Given the description of an element on the screen output the (x, y) to click on. 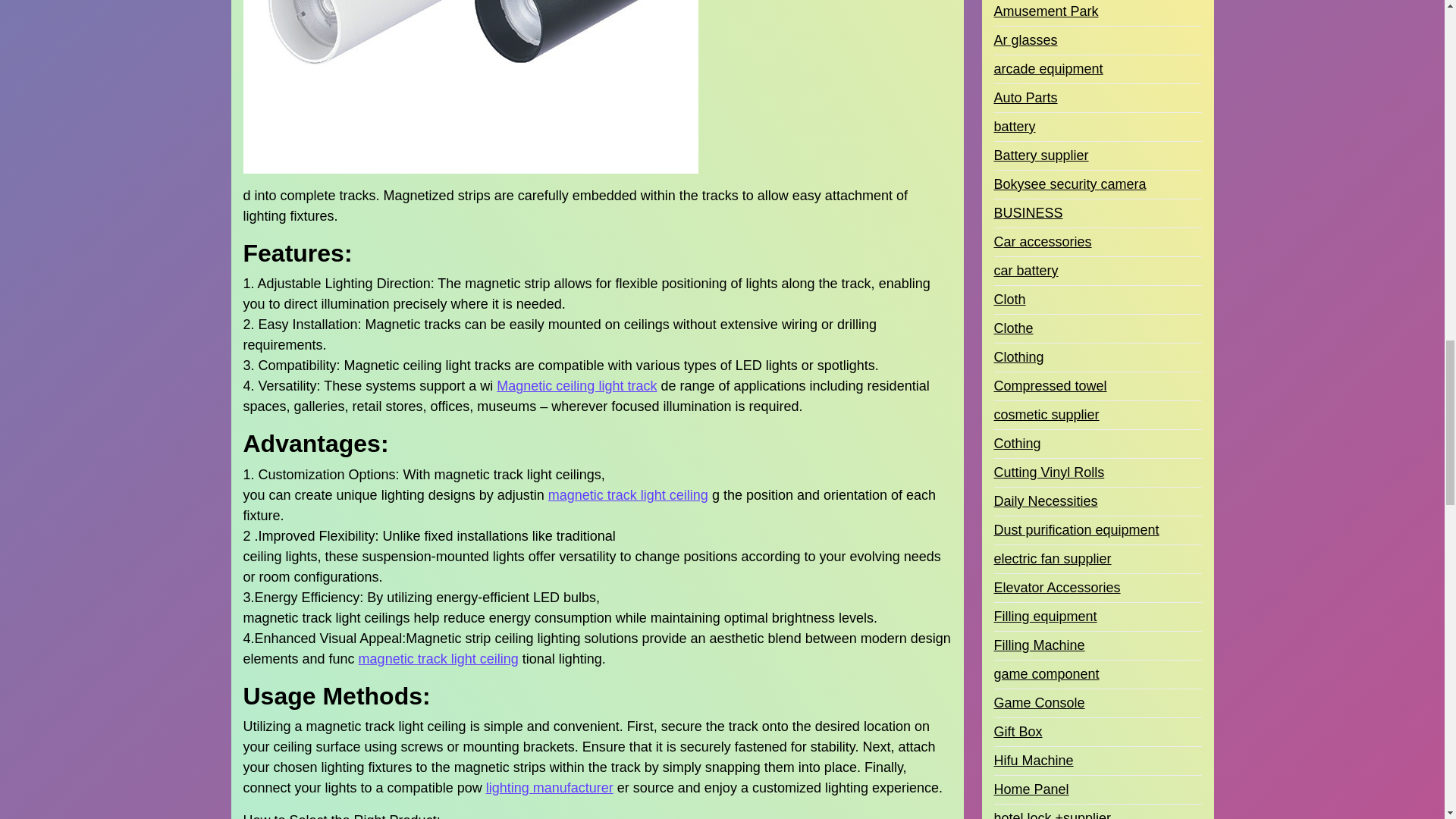
Magnetic ceiling light track (576, 385)
lighting manufacturer (549, 788)
magnetic track light ceiling (438, 659)
magnetic track light ceiling (627, 495)
